Given the description of an element on the screen output the (x, y) to click on. 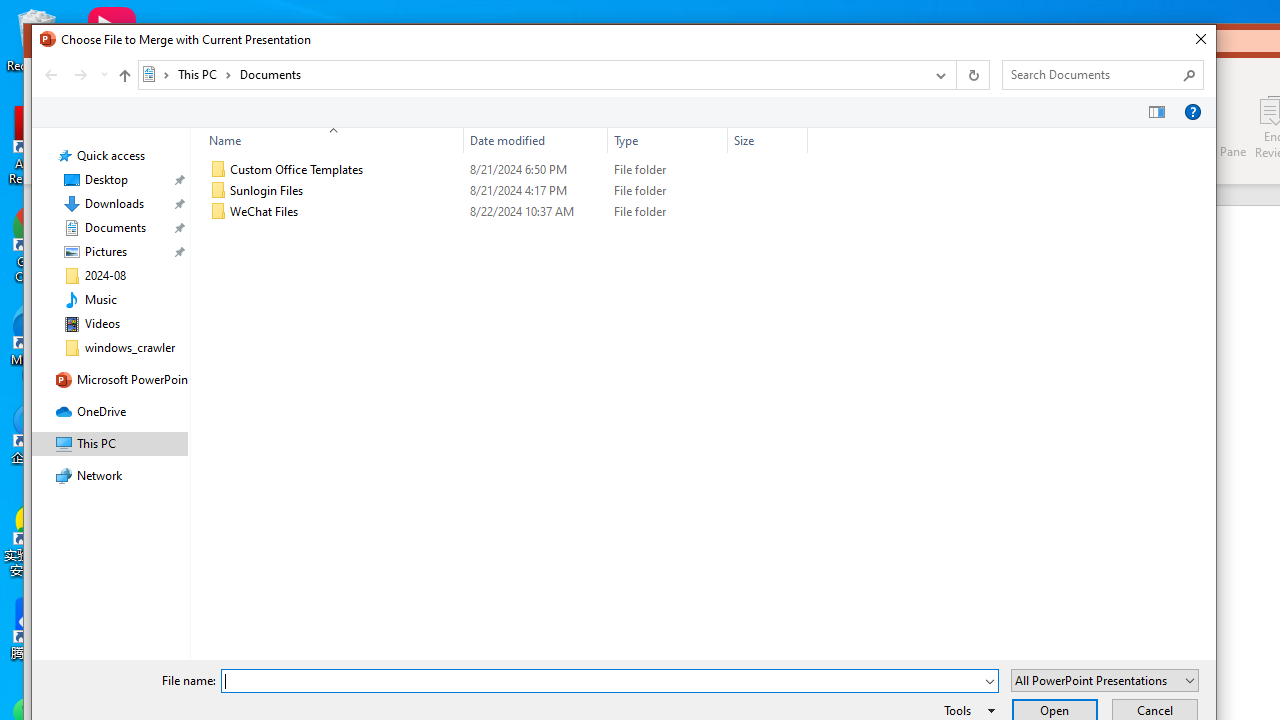
Type (668, 140)
Address: Documents (530, 74)
Size (767, 211)
Name (345, 211)
All locations (156, 74)
Search Box (1092, 74)
